Given the description of an element on the screen output the (x, y) to click on. 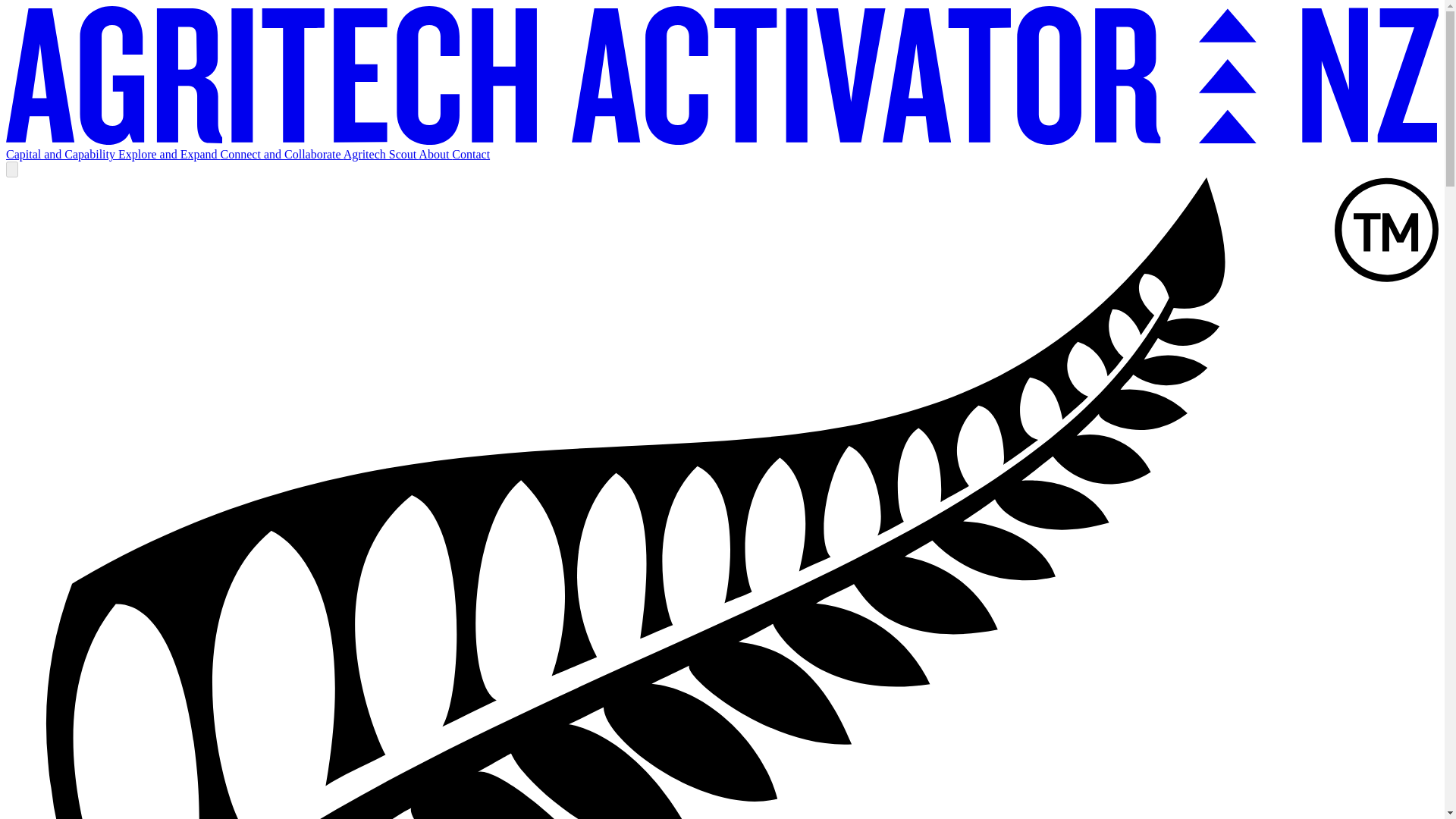
Connect and Collaborate (282, 154)
Explore and Expand (169, 154)
Search (11, 169)
Capital and Capability (61, 154)
Agritech Scout (381, 154)
Contact (470, 154)
About (435, 154)
